Given the description of an element on the screen output the (x, y) to click on. 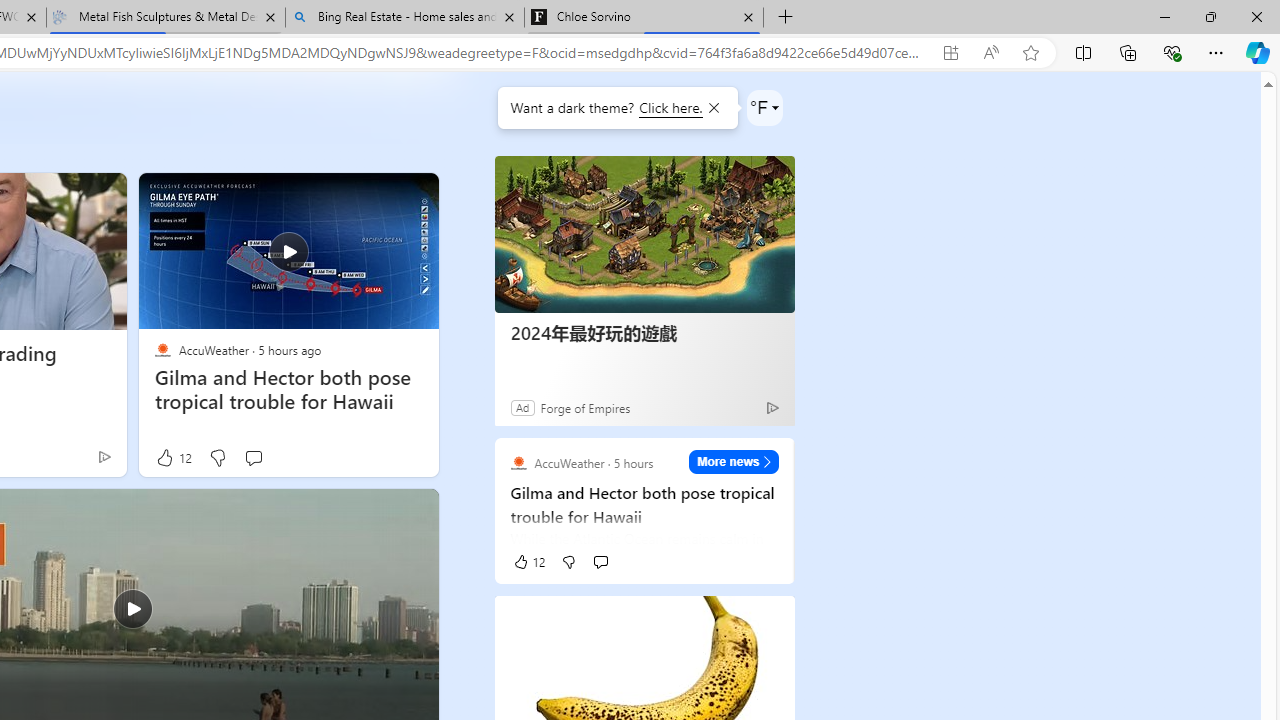
Weather settings Want a dark theme?Click here. (764, 107)
Gilma and Hector both pose tropical trouble for Hawaii (287, 389)
AccuWeather (162, 349)
Bing Real Estate - Home sales and rental listings (404, 17)
12 Like (172, 458)
Class: BubbleMessageCloseIcon-DS-EntryPoint1-1 (712, 107)
